Given the description of an element on the screen output the (x, y) to click on. 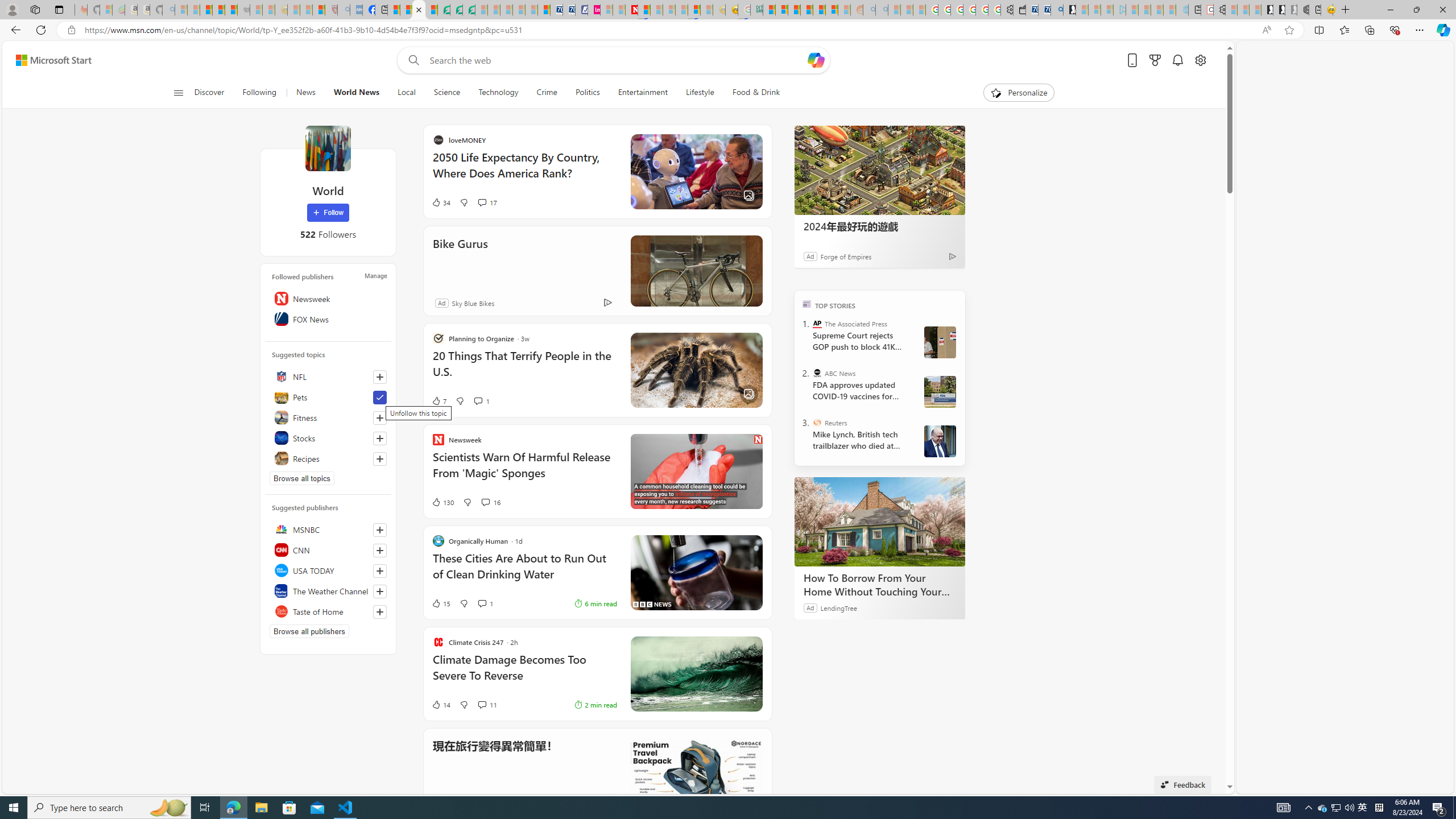
Unfollow this topic (379, 397)
View comments 11 Comment (481, 704)
Browse all topics (301, 477)
